Given the description of an element on the screen output the (x, y) to click on. 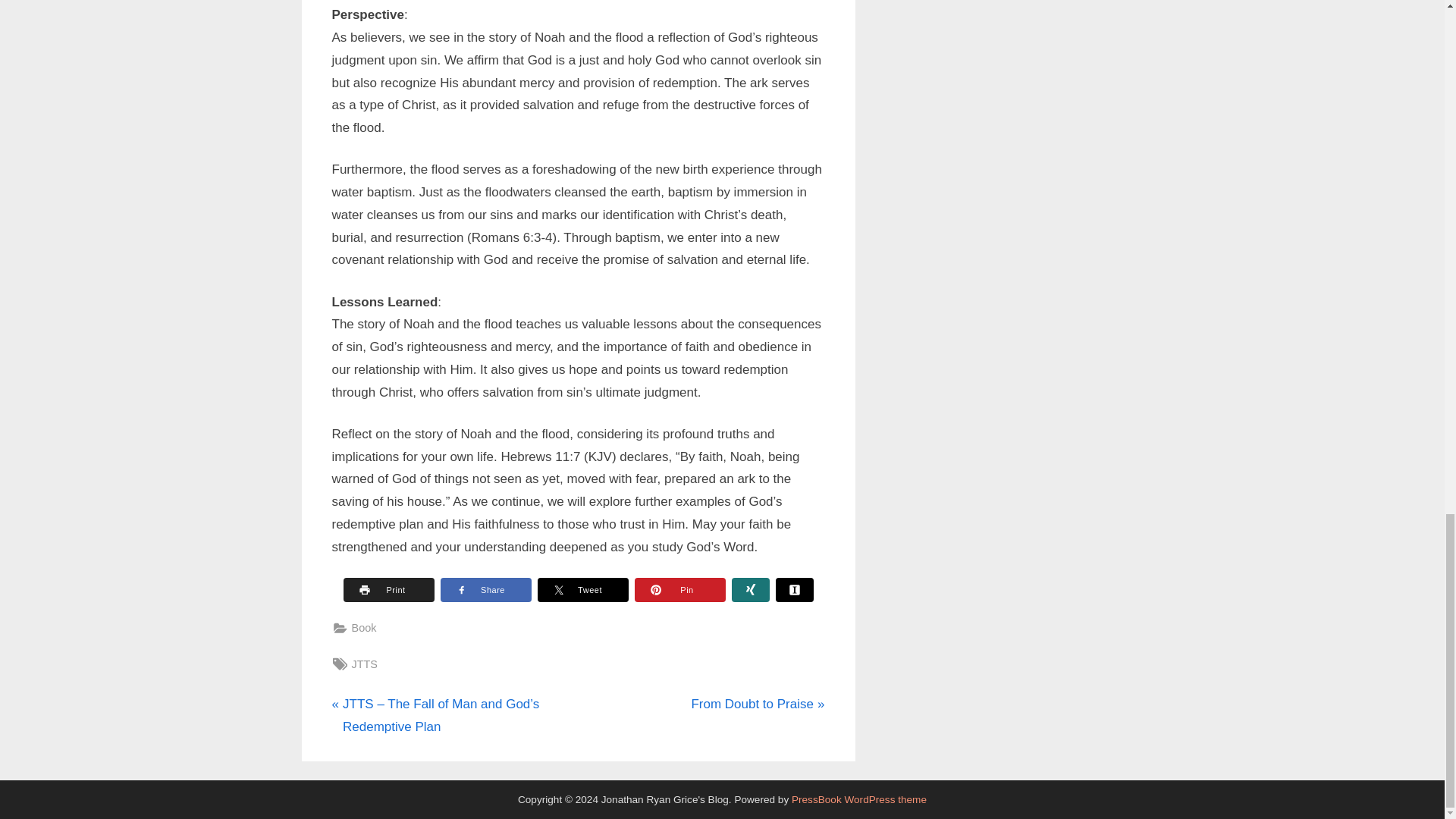
PressBook WordPress theme (859, 799)
JTTS (365, 664)
Book (757, 703)
